Given the description of an element on the screen output the (x, y) to click on. 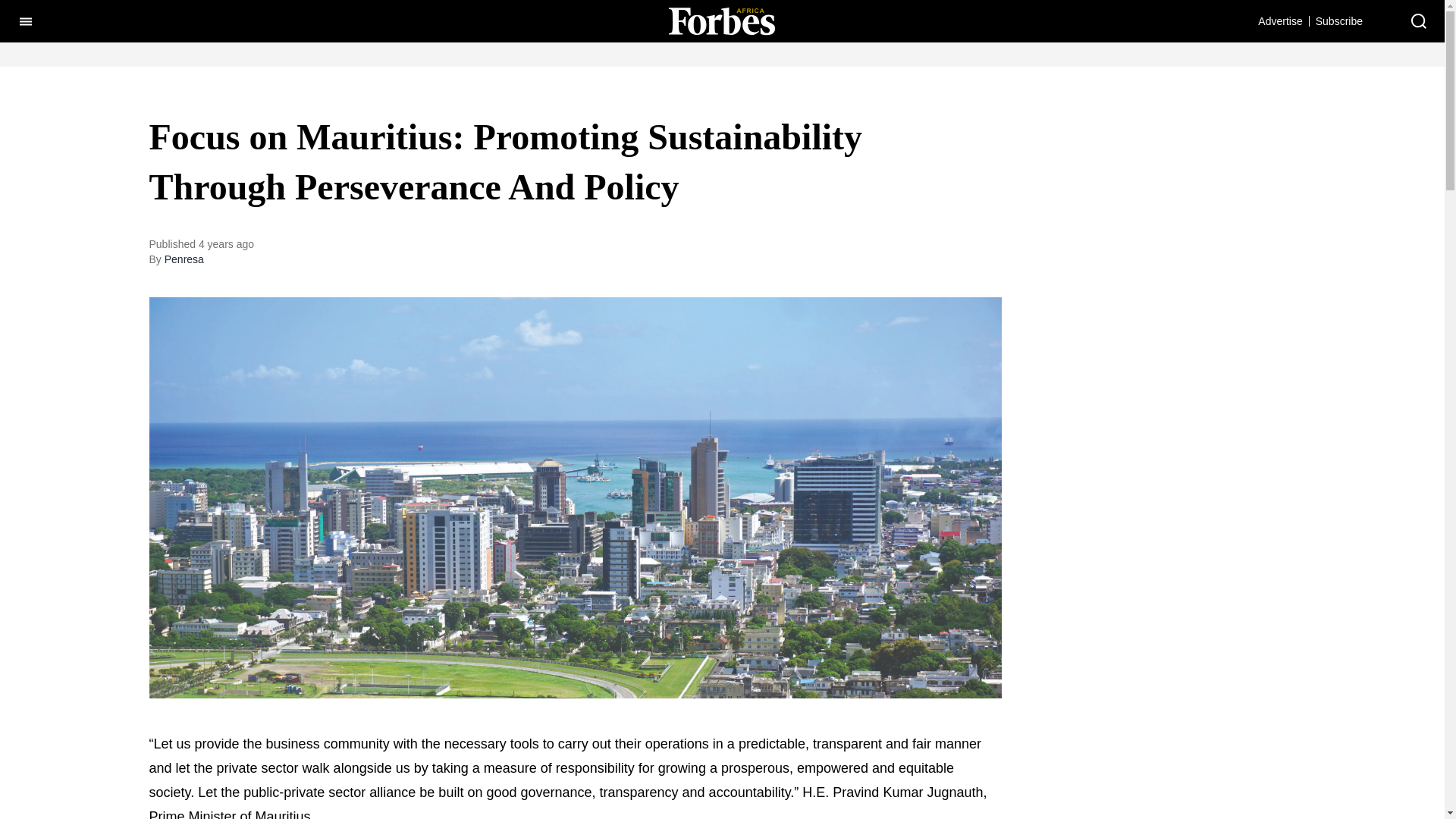
Advertise (1279, 20)
Forbes Africa (721, 20)
Penresa (183, 259)
Subscribe (1339, 20)
